Given the description of an element on the screen output the (x, y) to click on. 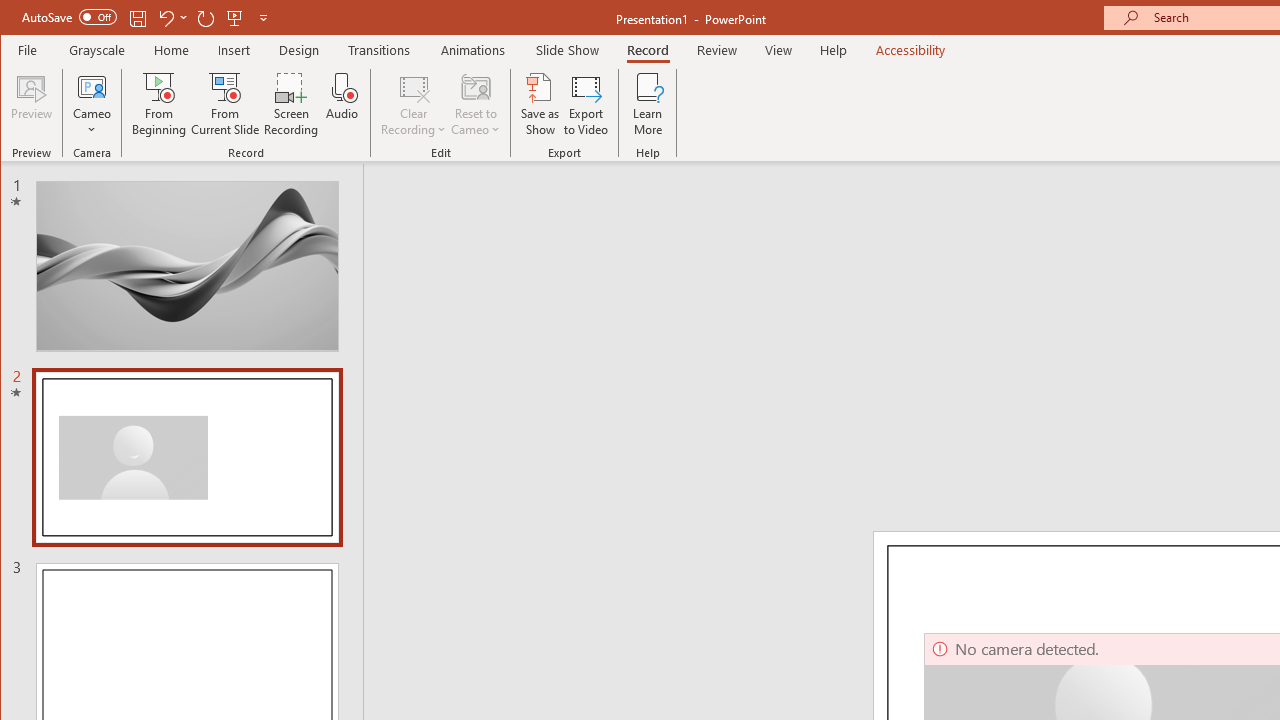
From Beginning... (159, 104)
From Current Slide... (225, 104)
Export to Video (585, 104)
Save as Show (539, 104)
